Given the description of an element on the screen output the (x, y) to click on. 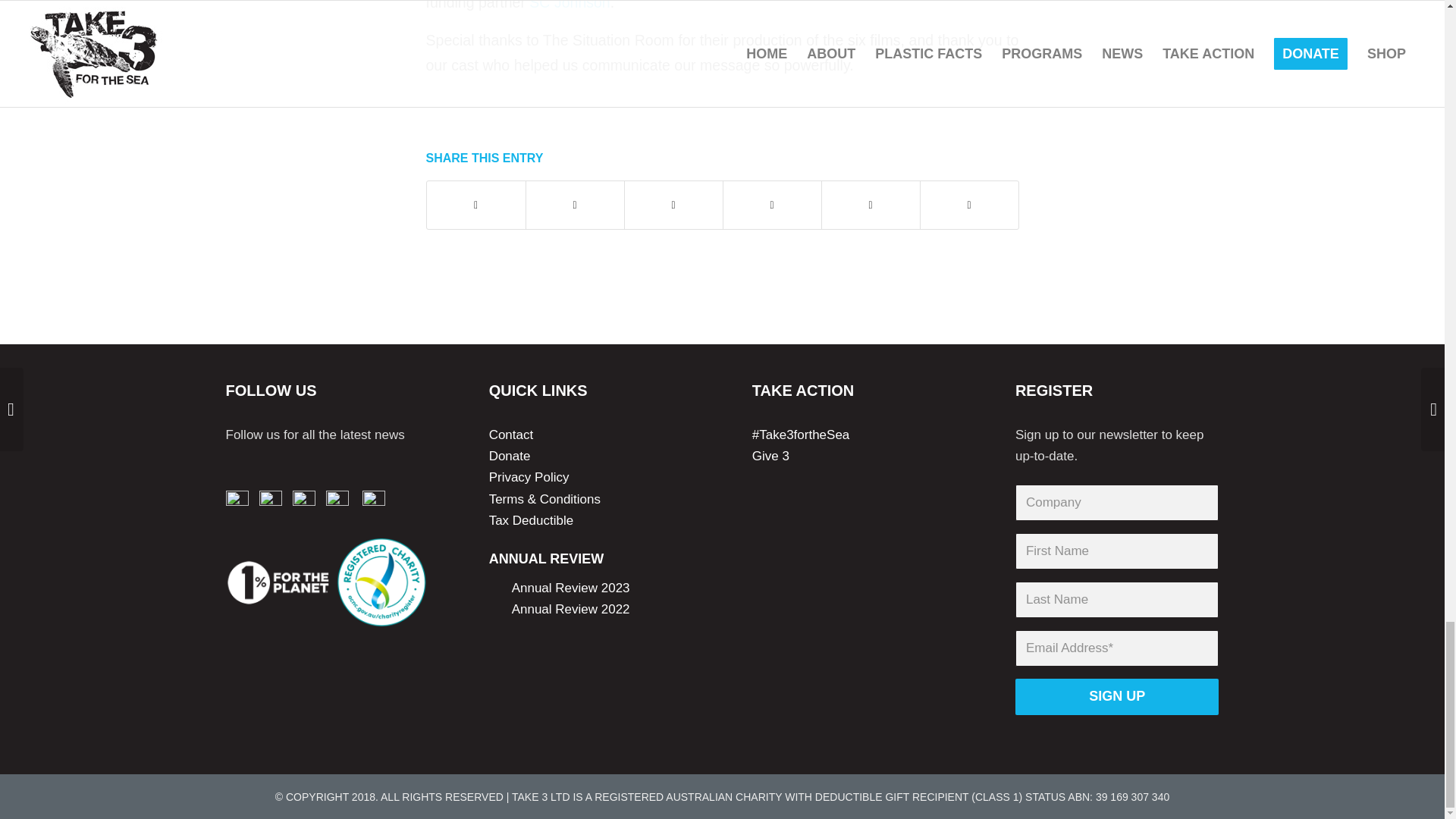
SC Johnson (569, 5)
Contact (511, 434)
Sign up (1117, 696)
foo-credits-new (327, 582)
Donate (510, 455)
